Given the description of an element on the screen output the (x, y) to click on. 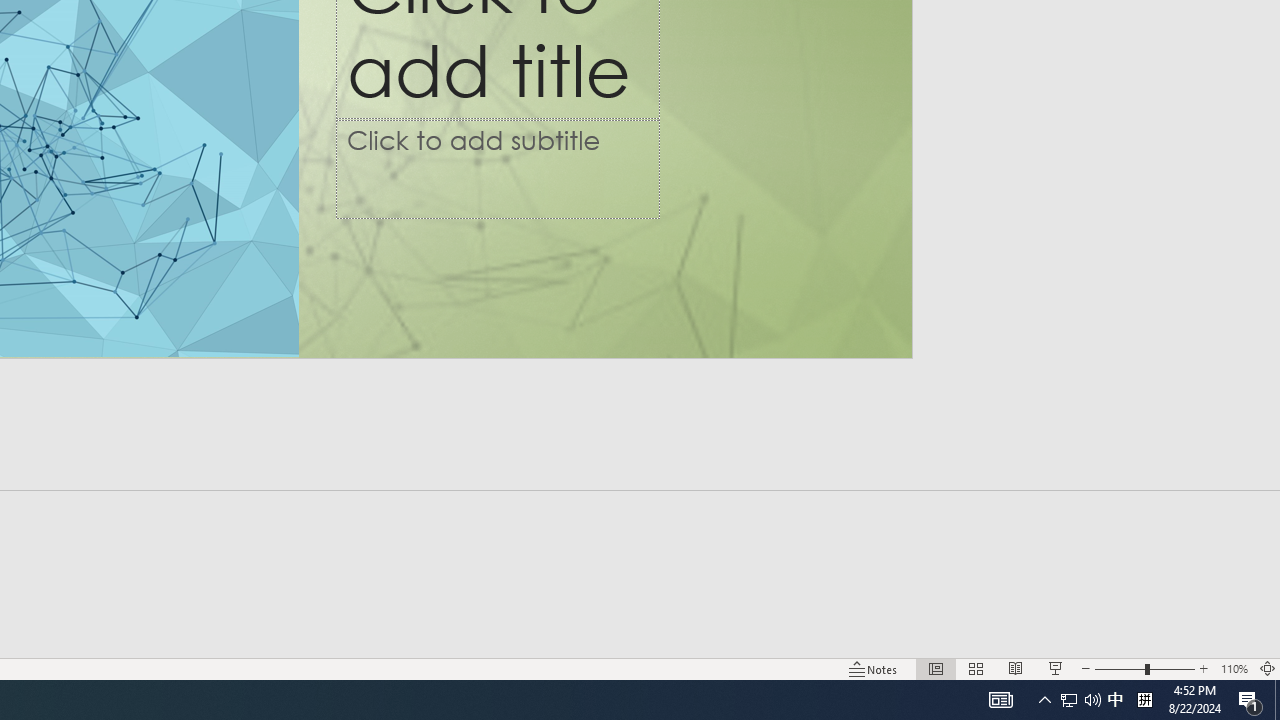
Zoom 110% (1234, 668)
